Given the description of an element on the screen output the (x, y) to click on. 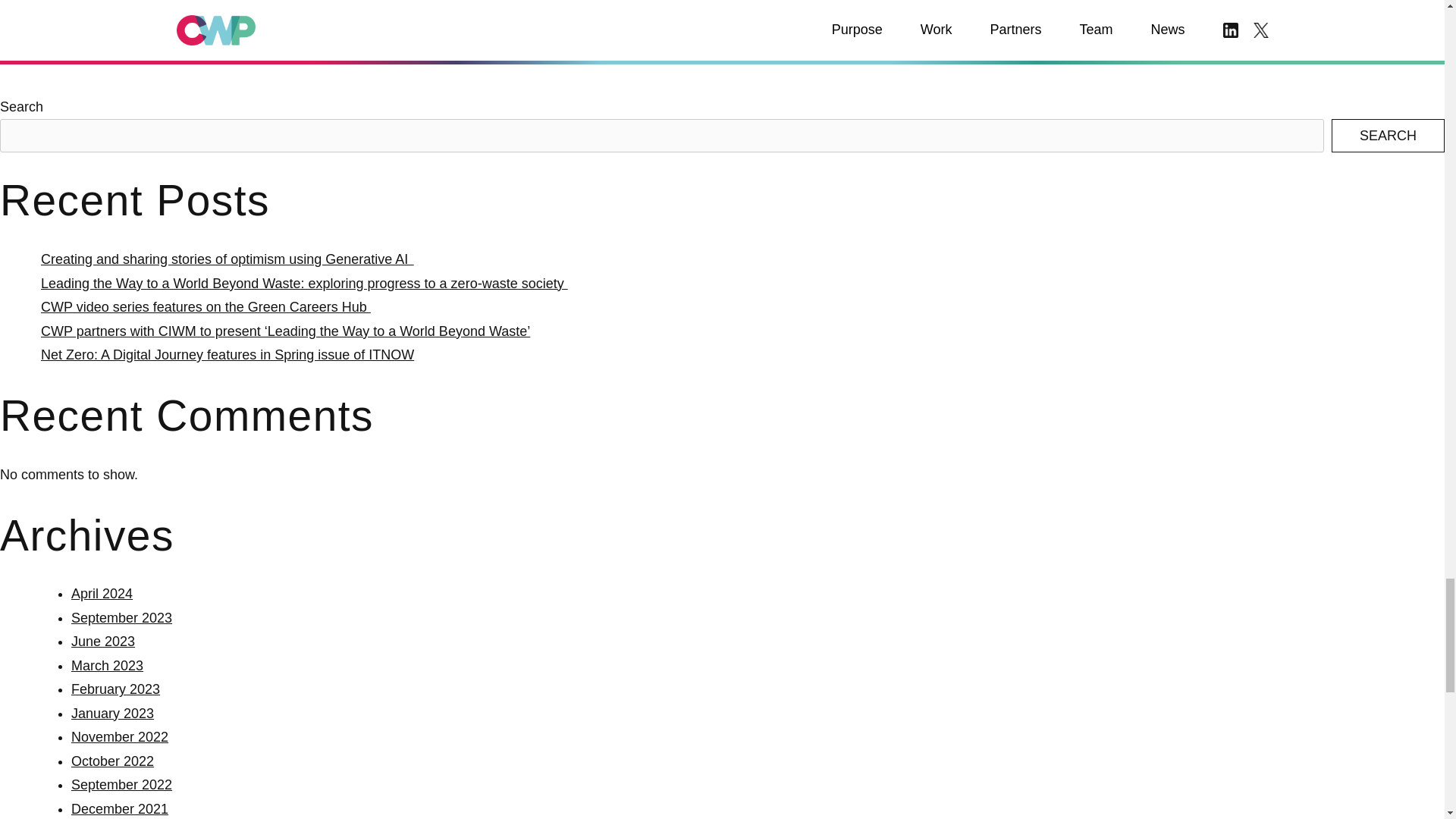
CWP video series features on the Green Careers Hub  (205, 306)
April 2024 (101, 593)
June 2023 (103, 641)
November 2022 (119, 736)
March 2023 (106, 665)
September 2023 (121, 617)
December 2021 (119, 808)
January 2023 (112, 713)
